Given the description of an element on the screen output the (x, y) to click on. 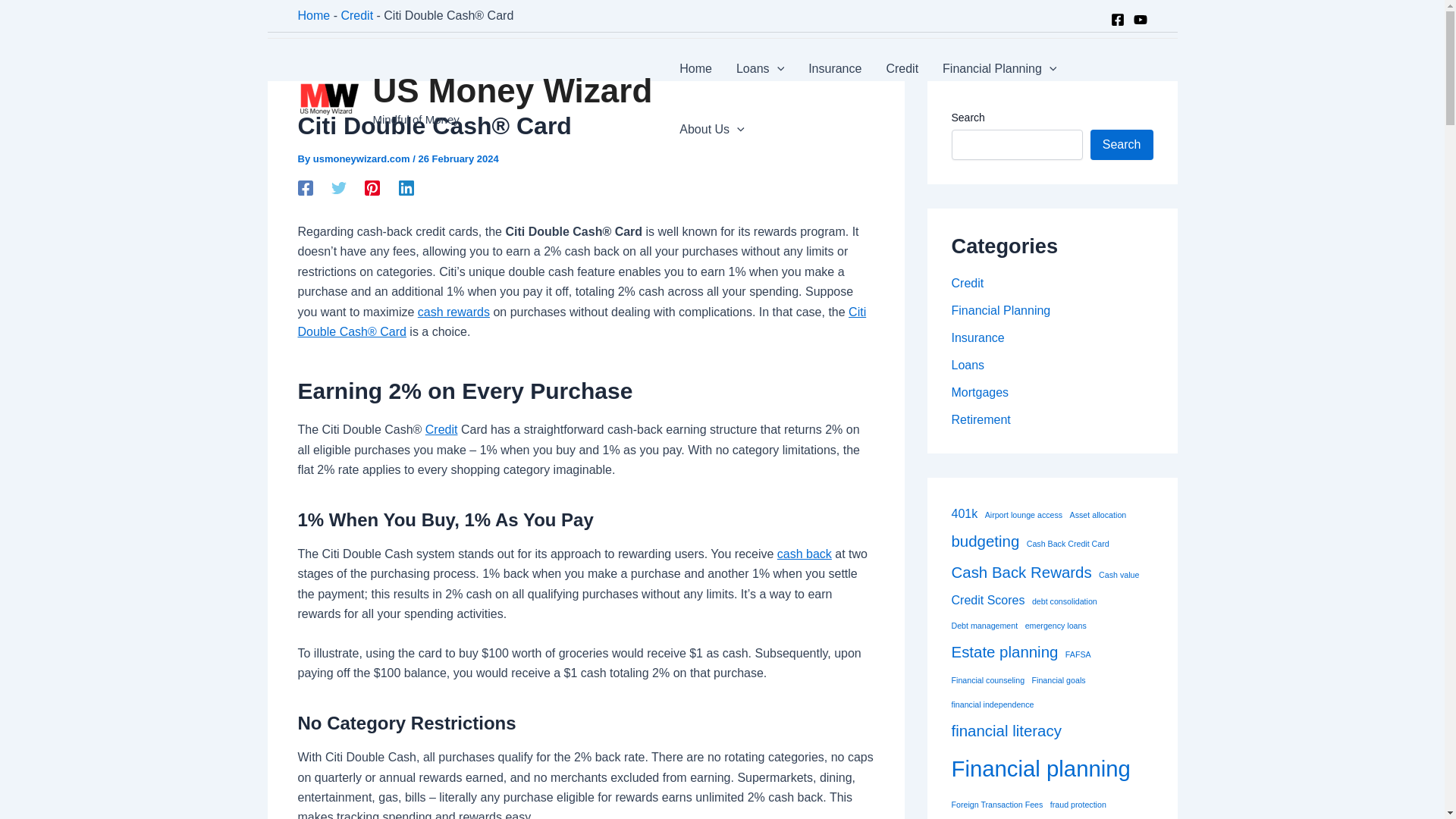
Loans (759, 68)
Financial Planning (999, 68)
About Us (710, 129)
Insurance (834, 68)
Home (694, 68)
Credit (901, 68)
US Money Wizard (512, 90)
View all posts by usmoneywizard.com (362, 158)
